Given the description of an element on the screen output the (x, y) to click on. 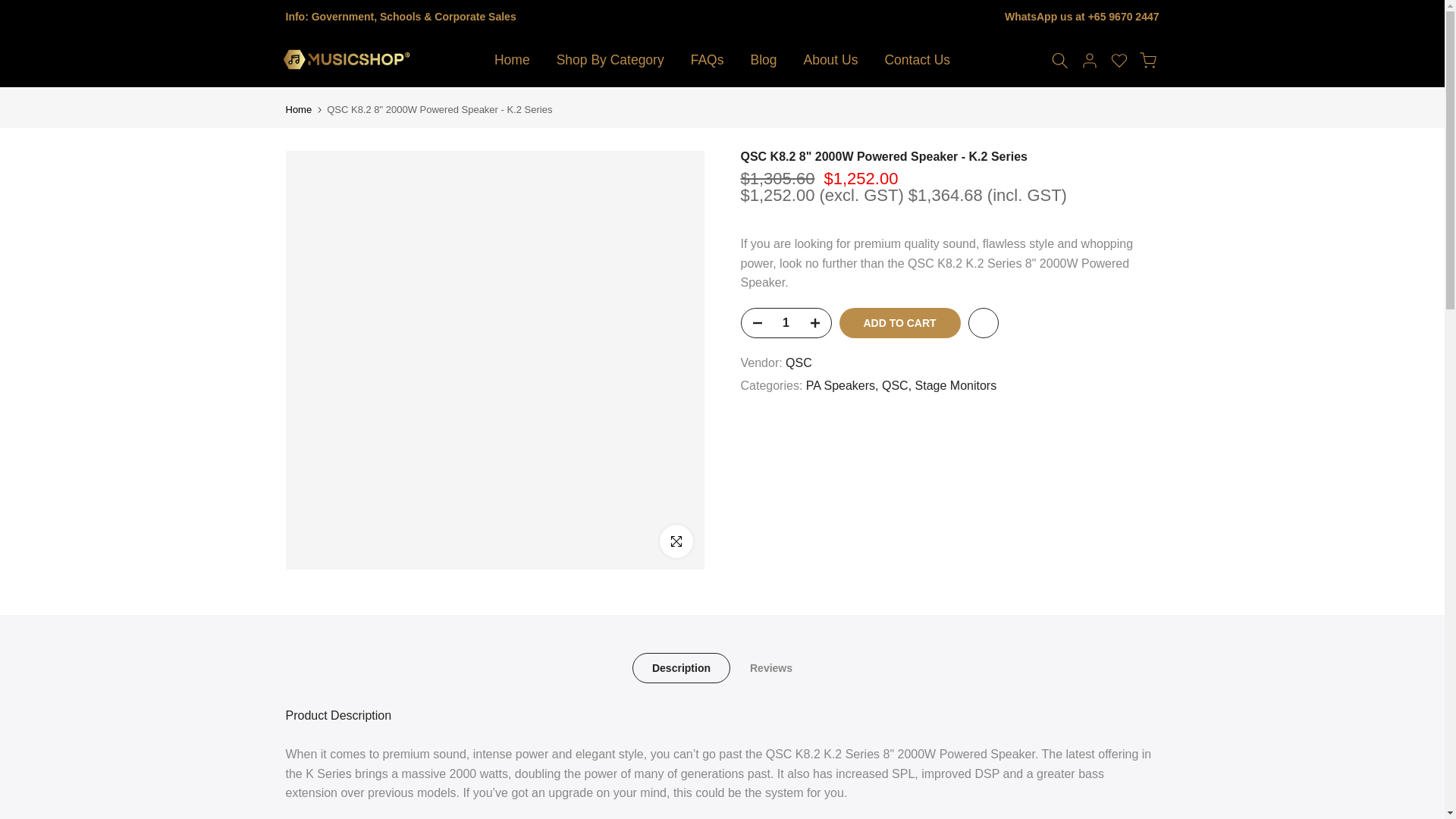
Stage Monitors (956, 385)
QSC (799, 362)
1 (786, 322)
Skip to content (10, 7)
ADD TO CART (898, 322)
Contact Us (916, 60)
Description (680, 667)
QSC (896, 385)
Home (511, 60)
Reviews (771, 667)
Home (298, 109)
Blog (763, 60)
Shop By Category (610, 60)
About Us (830, 60)
FAQs (706, 60)
